Given the description of an element on the screen output the (x, y) to click on. 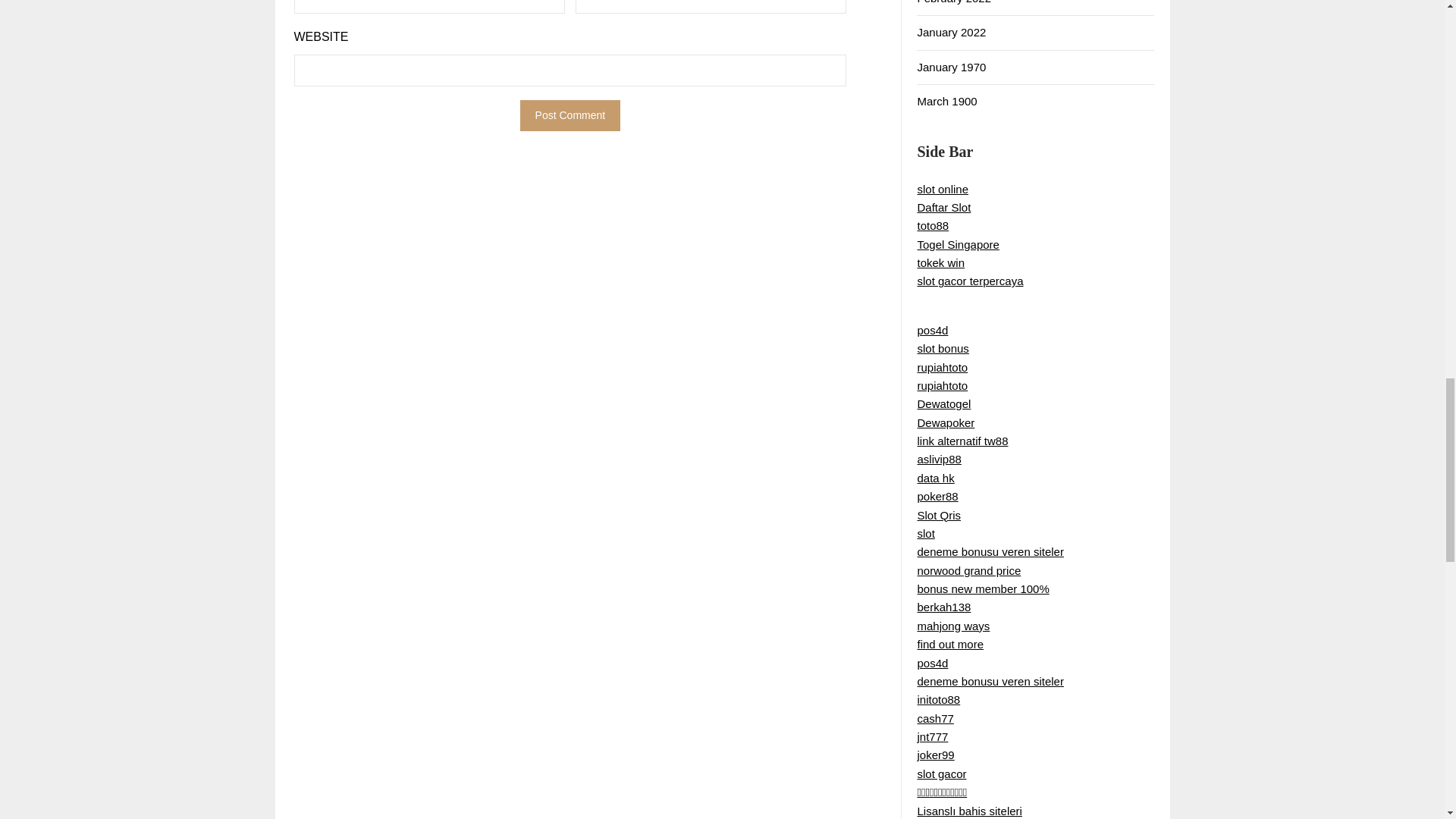
Post Comment (570, 115)
Post Comment (570, 115)
